Given the description of an element on the screen output the (x, y) to click on. 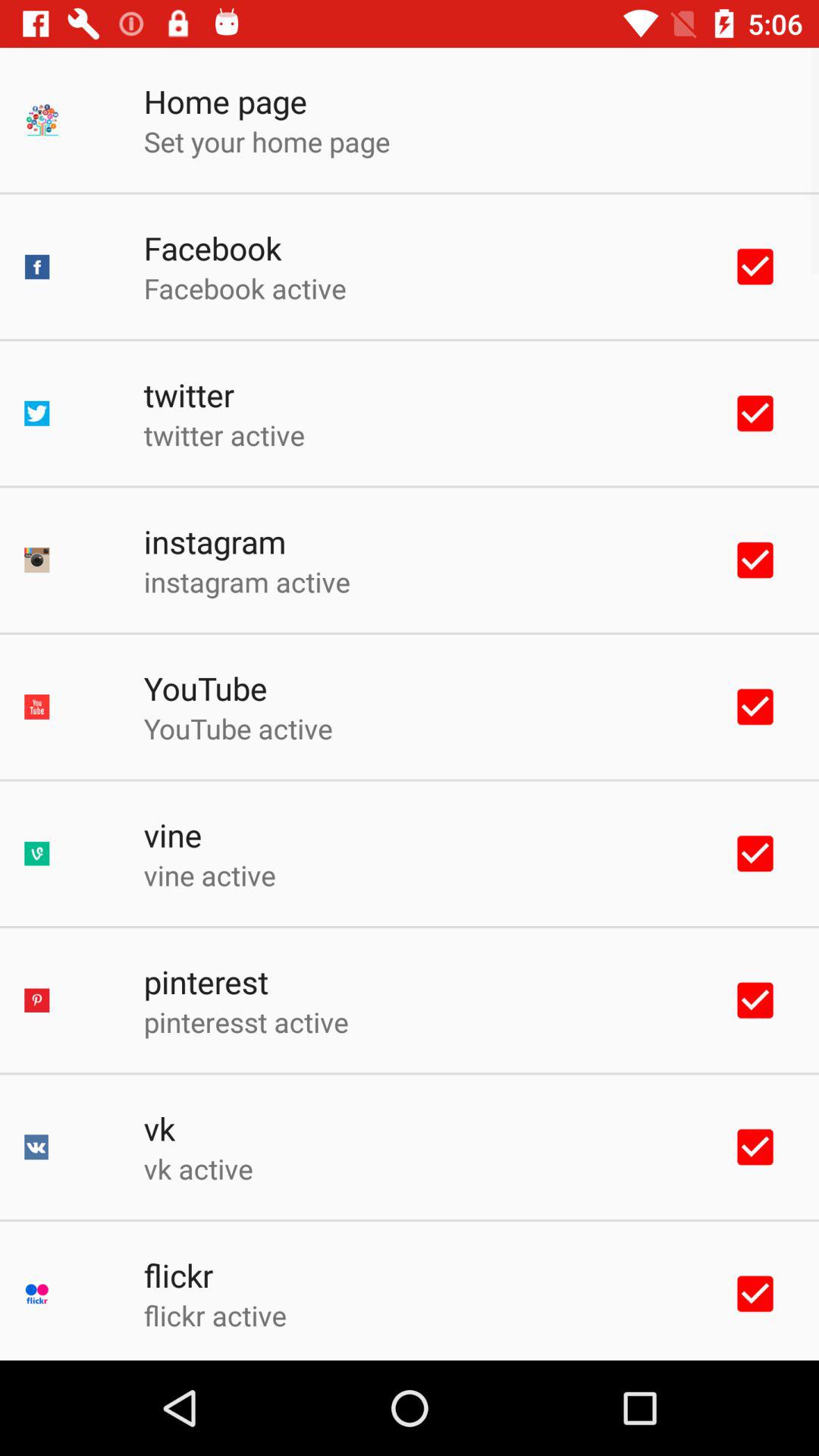
press icon above facebook icon (266, 141)
